Given the description of an element on the screen output the (x, y) to click on. 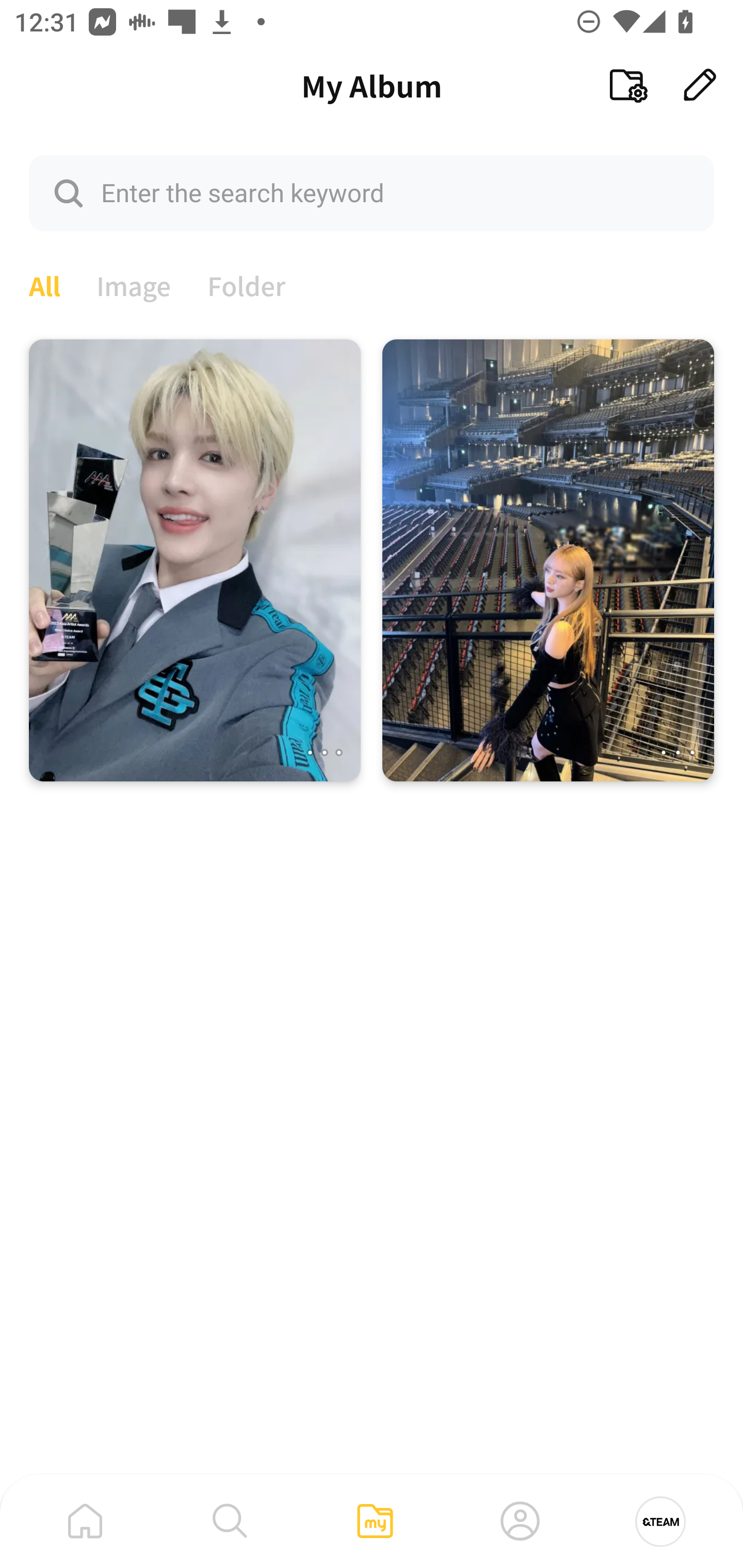
Enter the search keyword (371, 192)
All (44, 284)
Image (133, 284)
Folder (246, 284)
